Given the description of an element on the screen output the (x, y) to click on. 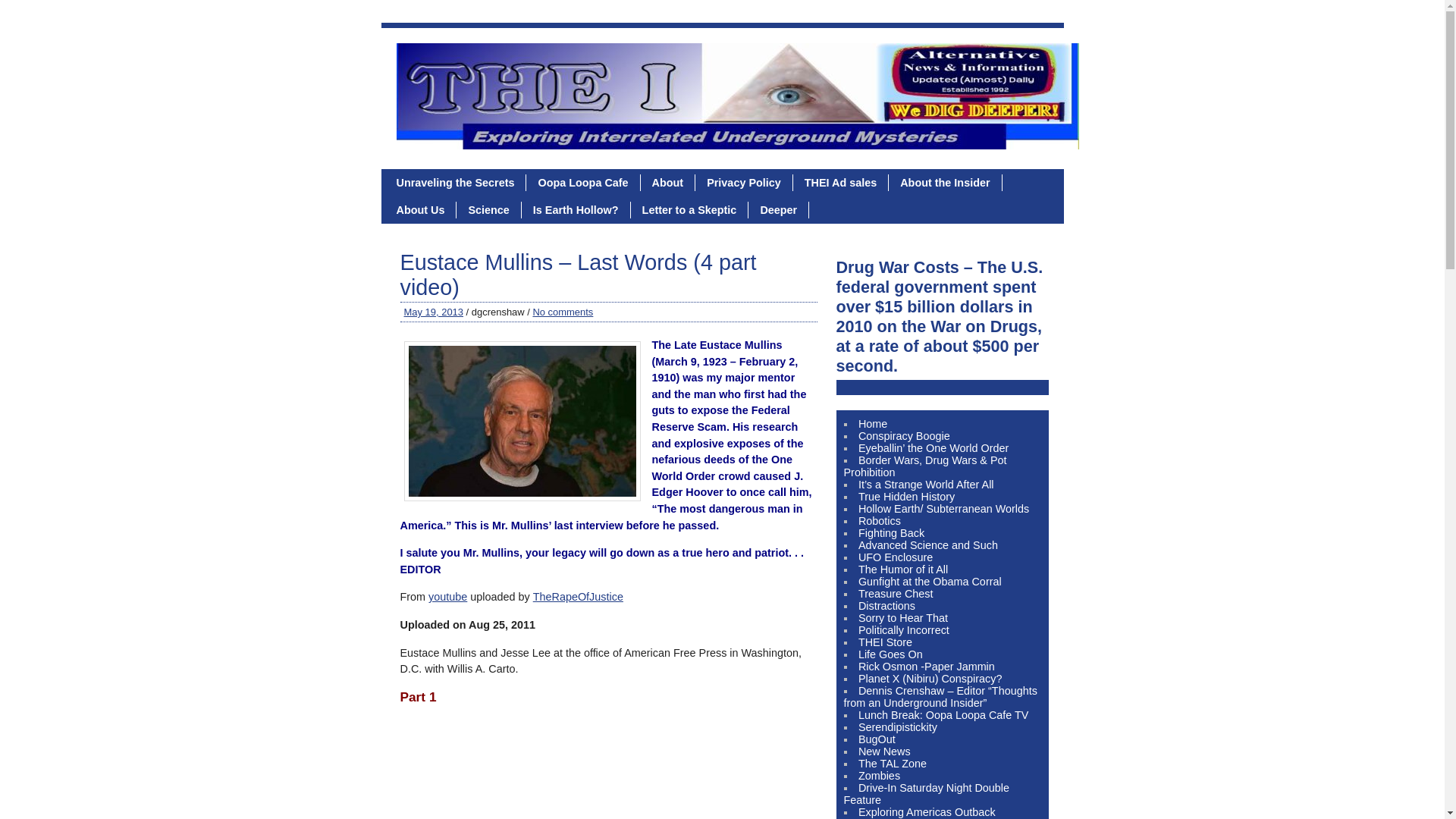
Conspiracy Boogie (904, 435)
Fighting Back (891, 532)
Robotics (880, 521)
THEI Ad sales (840, 182)
Is Earth Hollow? (575, 209)
Science (489, 209)
May 19, 2013 (433, 311)
About Us (421, 209)
The Humor of it All (903, 569)
TheRapeOfJustice (577, 596)
Deeper (778, 209)
Advanced Science and Such (928, 544)
youtube (447, 596)
Home (872, 423)
Privacy Policy (744, 182)
